Given the description of an element on the screen output the (x, y) to click on. 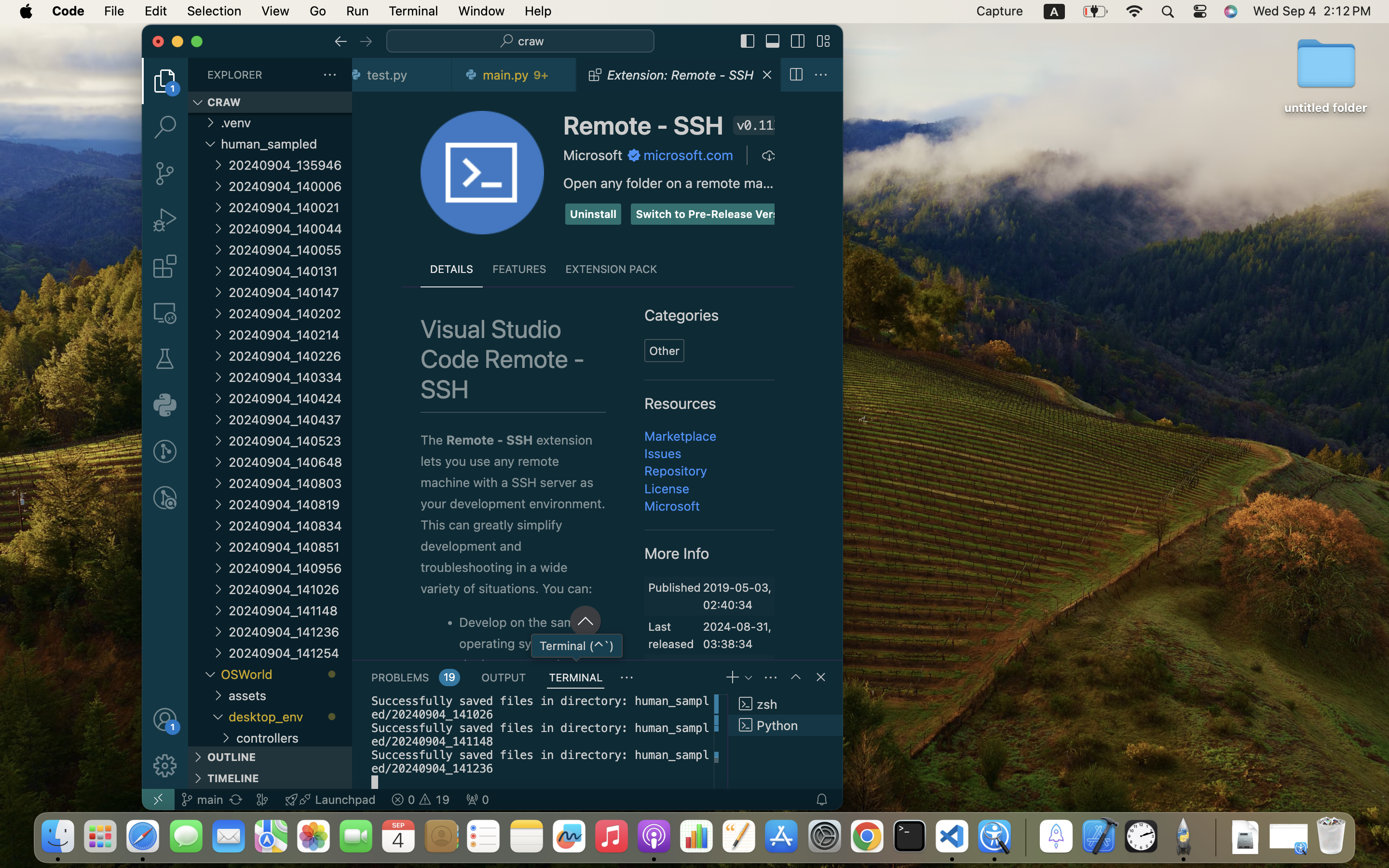
20240904_141236 Element type: AXGroup (290, 631)
20240904_141026 Element type: AXGroup (290, 588)
Last released Element type: AXStaticText (671, 635)
20240904_140226 Element type: AXGroup (290, 355)
v0.113.1 Element type: AXStaticText (755, 125)
